Given the description of an element on the screen output the (x, y) to click on. 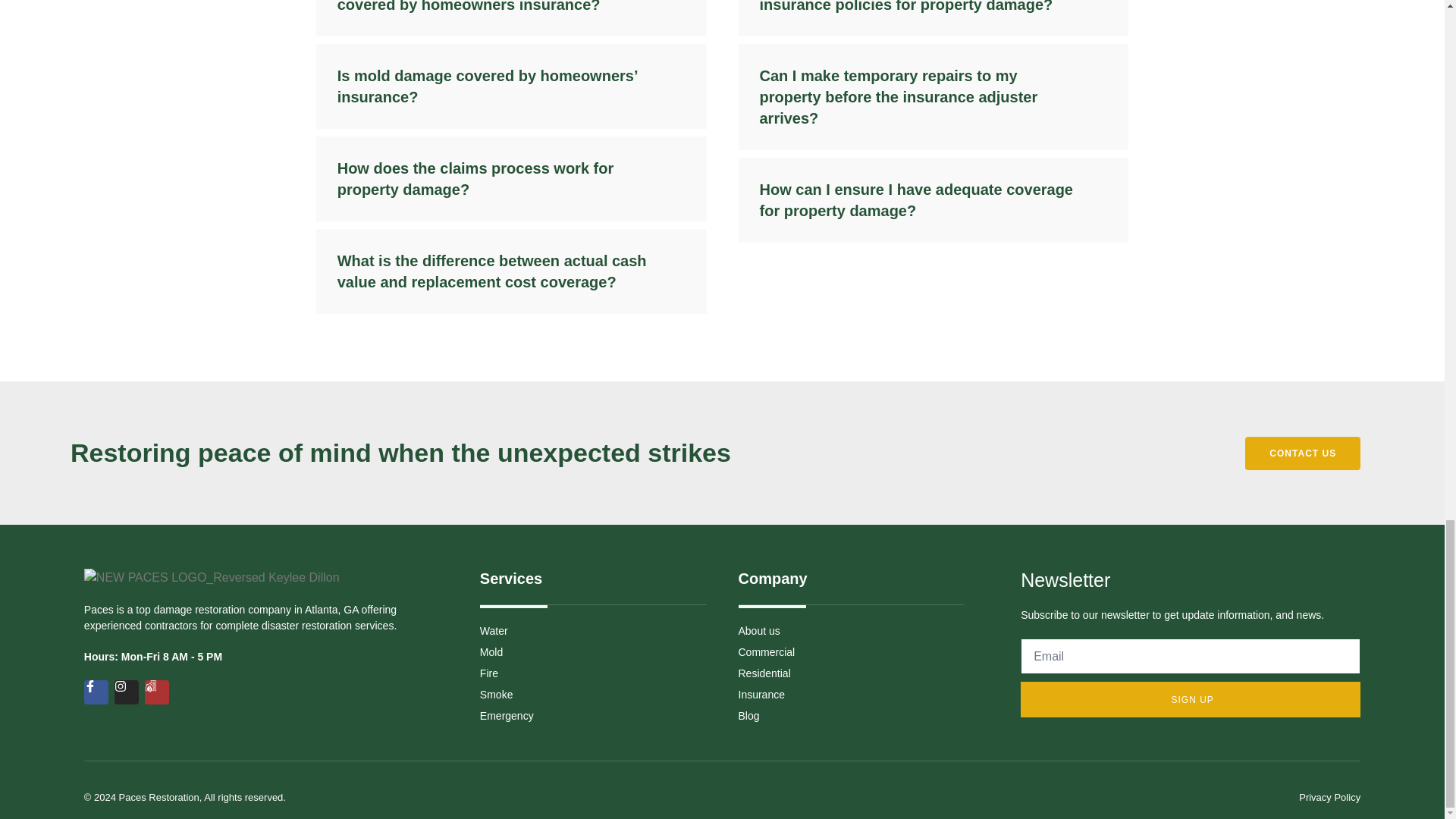
How does the claims process work for property damage? (510, 178)
